Given the description of an element on the screen output the (x, y) to click on. 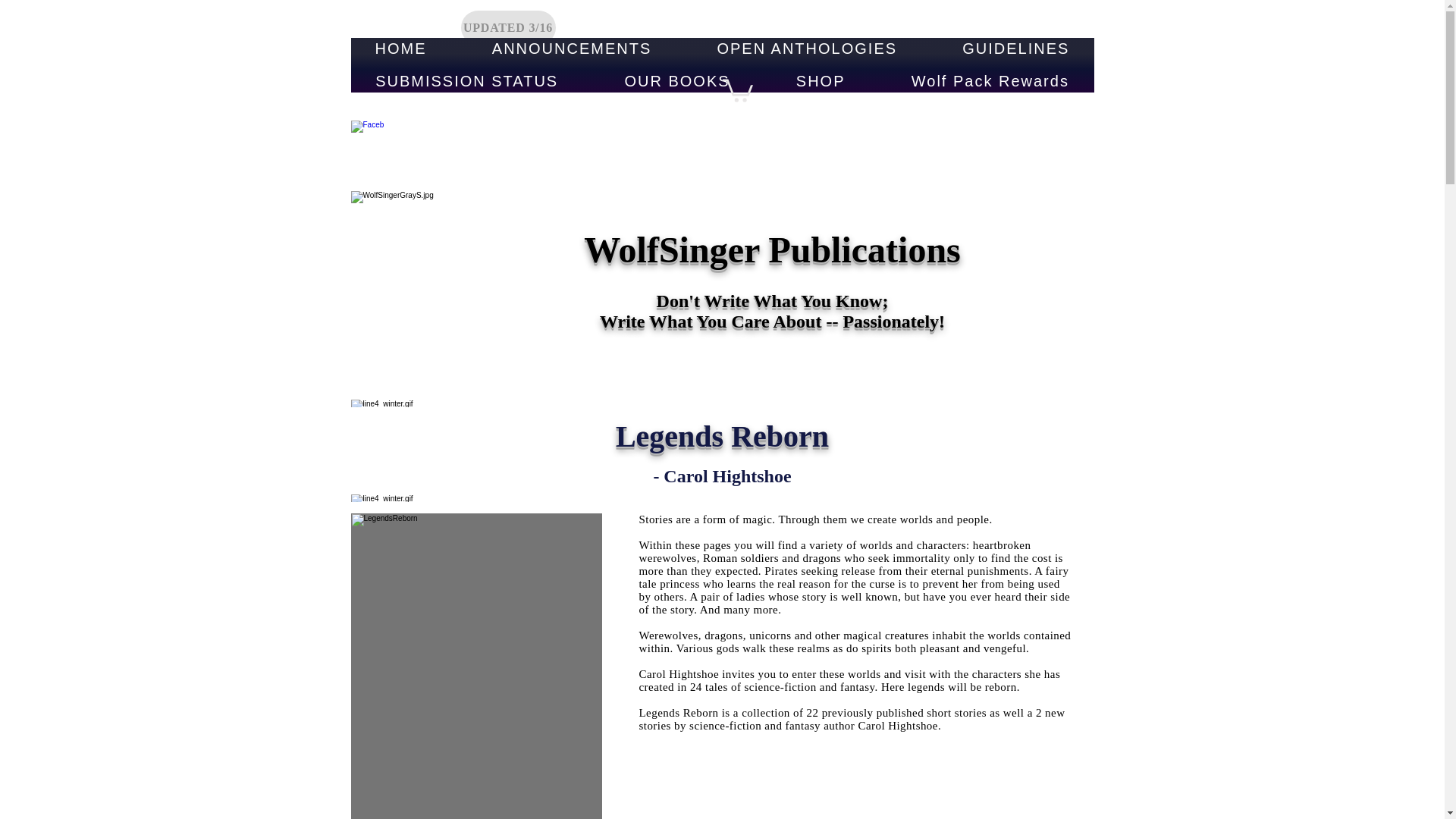
Contact Us (531, 136)
Meet Our Patreons (721, 135)
SUBMISSION STATUS (466, 81)
OUR BOOKS (676, 81)
ANNOUNCEMENTS (572, 48)
HOME (399, 48)
Wolf Pack Rewards (989, 81)
GUIDELINES (1015, 48)
OPEN ANTHOLOGIES (807, 48)
SHOP (820, 81)
